Given the description of an element on the screen output the (x, y) to click on. 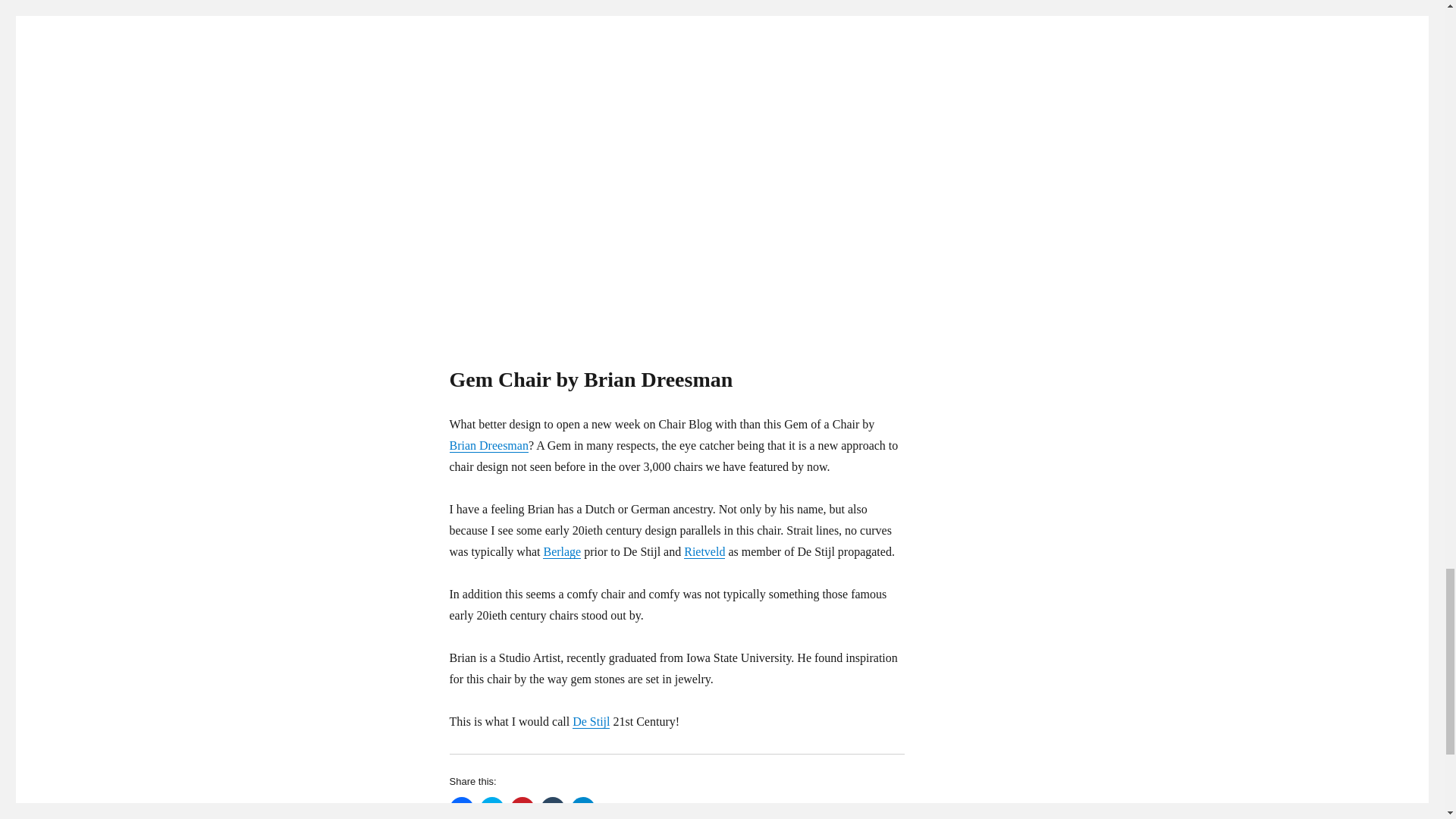
Click to share on Facebook (460, 807)
Click to share on Twitter (491, 807)
De Stijl (591, 721)
Rietveld (704, 551)
Click to share on Tumblr (552, 807)
Click to share on Telegram (582, 807)
Click to share on Pinterest (521, 807)
Berlage (561, 551)
Brian Dreesman (487, 445)
